Given the description of an element on the screen output the (x, y) to click on. 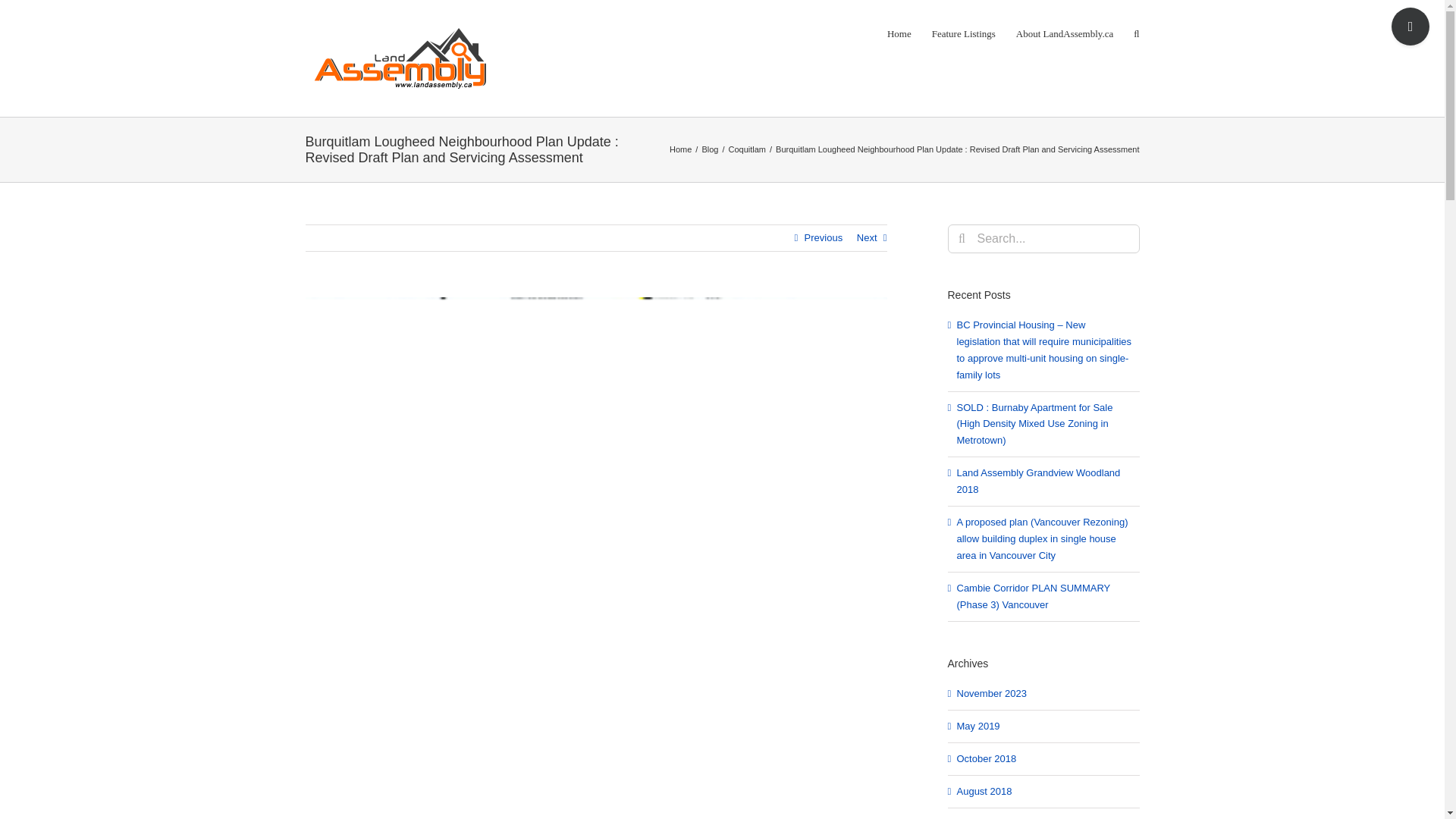
Home (680, 148)
Blog (709, 148)
Feature Listings (963, 32)
Coquitlam (746, 148)
About LandAssembly.ca (1064, 32)
Previous (824, 237)
